Given the description of an element on the screen output the (x, y) to click on. 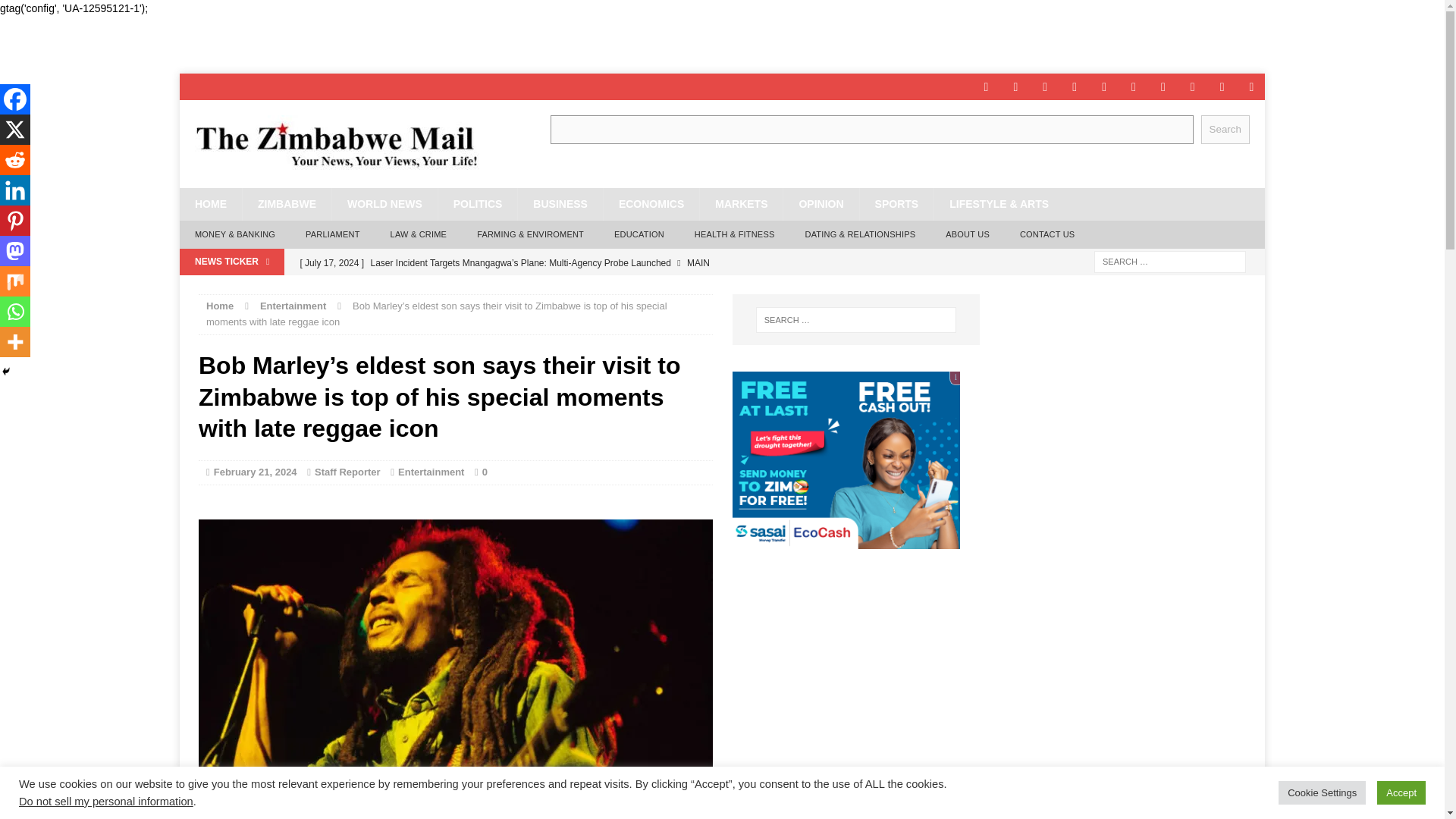
ZIMBABWE (286, 204)
HOME (210, 204)
EDUCATION (638, 234)
PARLIAMENT (331, 234)
OPINION (821, 204)
WORLD NEWS (384, 204)
MARKETS (740, 204)
Search (1225, 129)
ECONOMICS (650, 204)
BUSINESS (559, 204)
POLITICS (478, 204)
The Zimbabwe Mail (350, 143)
SPORTS (896, 204)
